Given the description of an element on the screen output the (x, y) to click on. 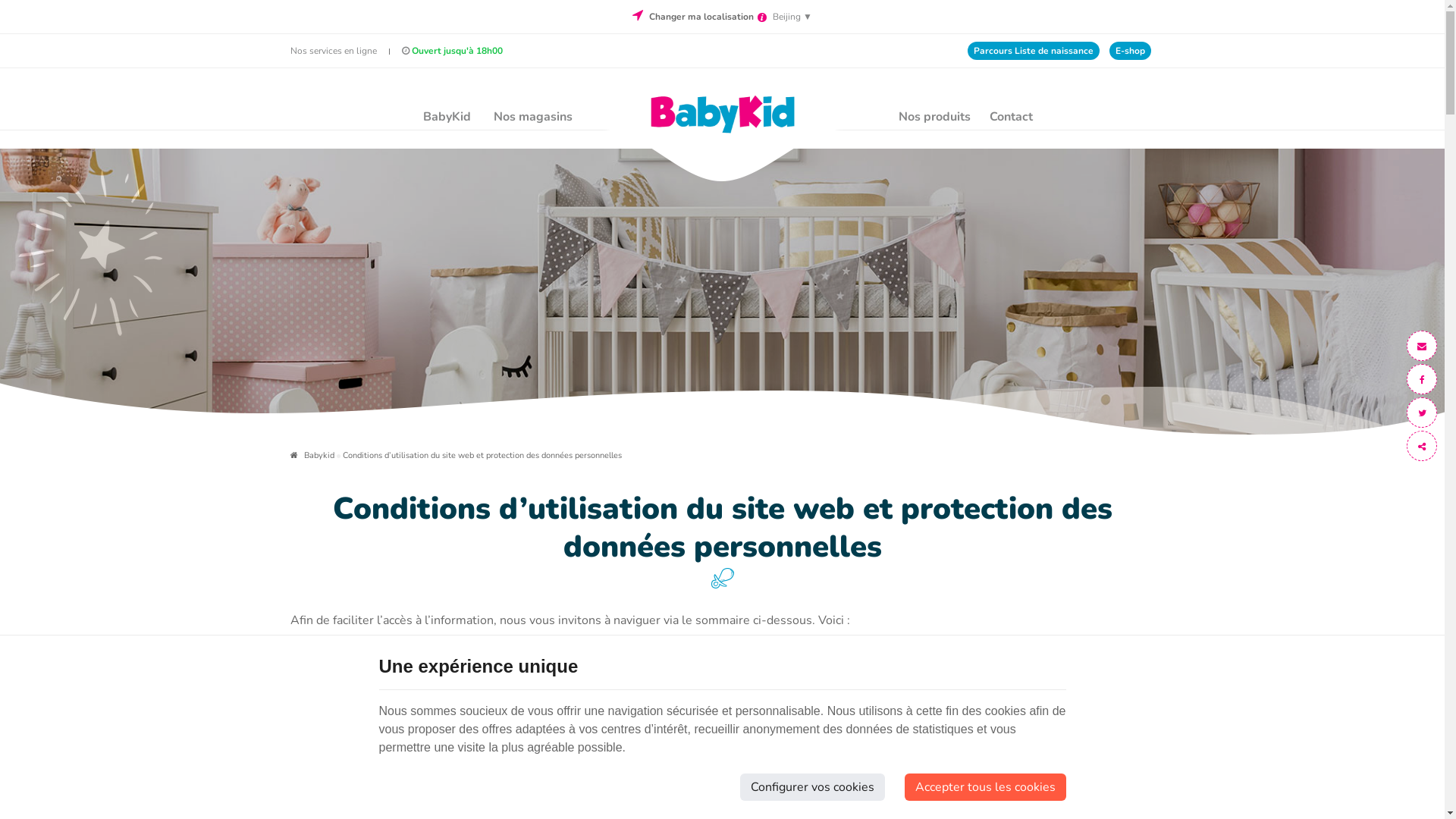
Babykid Element type: text (311, 455)
Nos produits Element type: text (934, 116)
Beijing Element type: text (786, 16)
Contact Element type: text (1007, 116)
Accepter tous les cookies Element type: text (984, 786)
Droit de rectification Element type: text (405, 780)
BabyKid Element type: text (446, 116)
Article 2. - Utilisation des Sites Element type: text (406, 671)
Babykid Element type: hover (721, 114)
E-shop Element type: text (1129, 50)
Nos services en ligne Element type: text (332, 50)
Nos magasins Element type: text (532, 116)
Partager ce contenu Element type: text (1421, 445)
Parcours Liste de naissance Element type: text (1033, 50)
Configurer vos cookies Element type: text (812, 786)
